Given the description of an element on the screen output the (x, y) to click on. 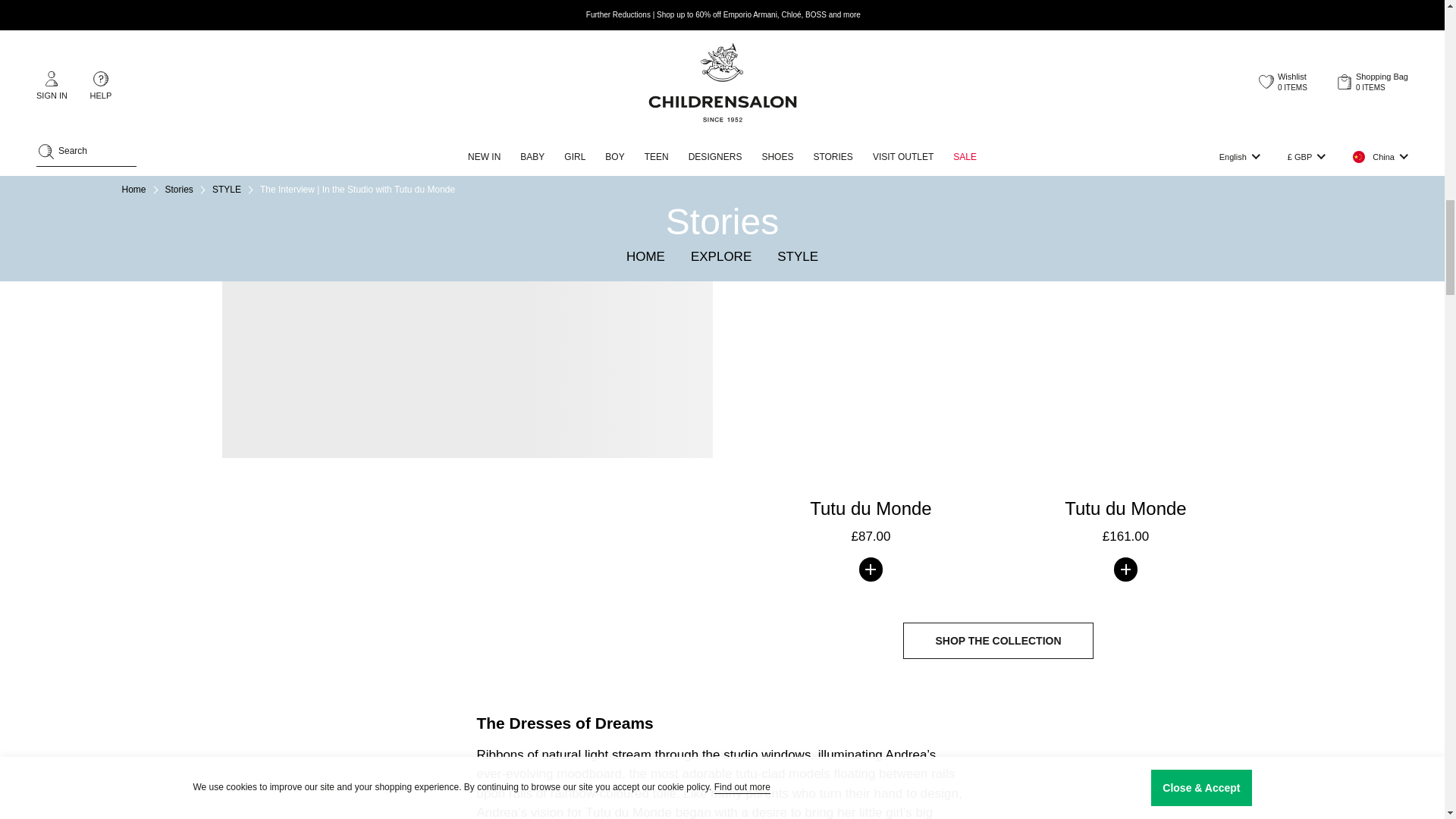
Tutu du Monde (870, 181)
Tutu du Monde (1125, 181)
